Given the description of an element on the screen output the (x, y) to click on. 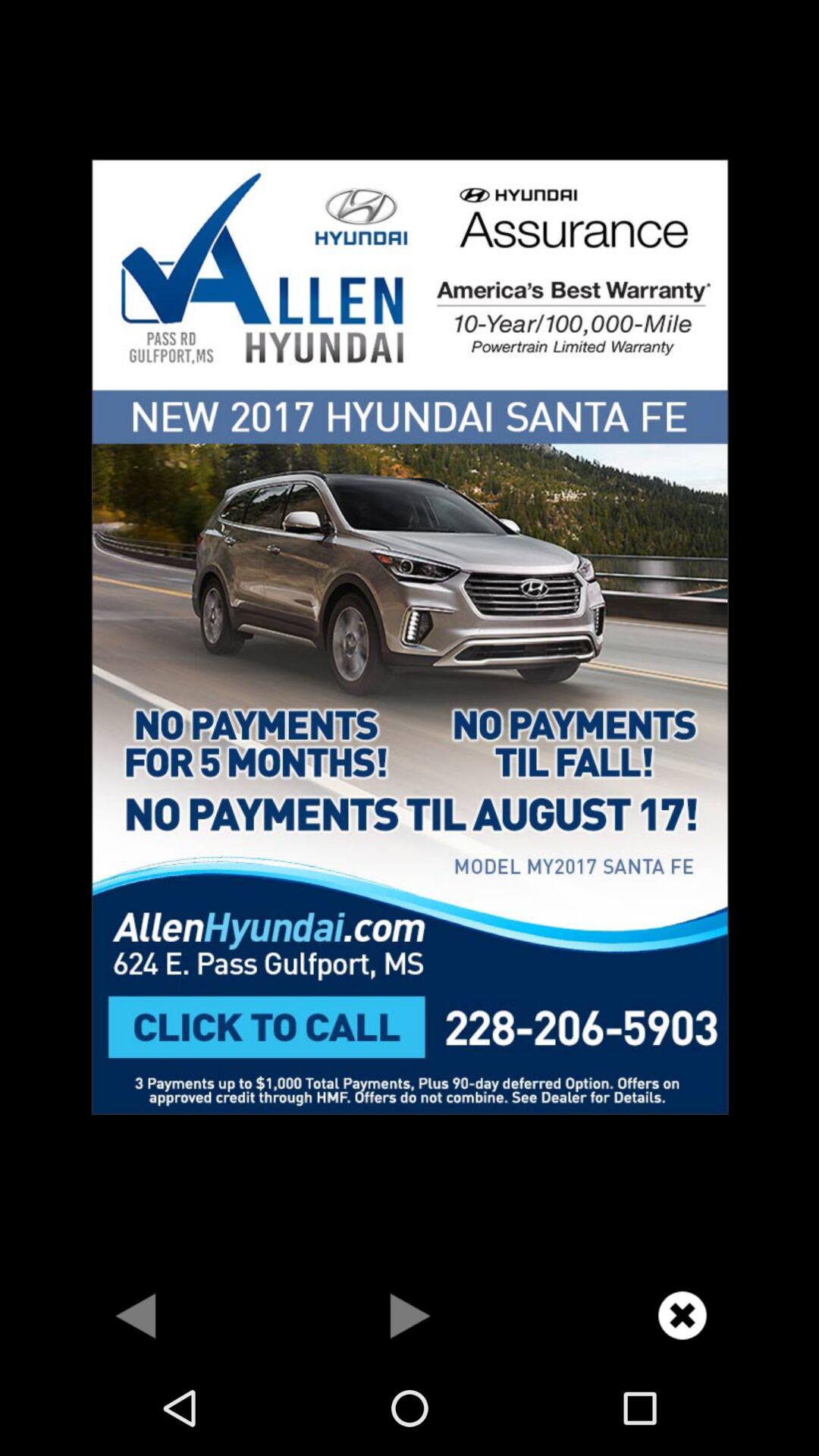
go to previous (136, 1315)
